Given the description of an element on the screen output the (x, y) to click on. 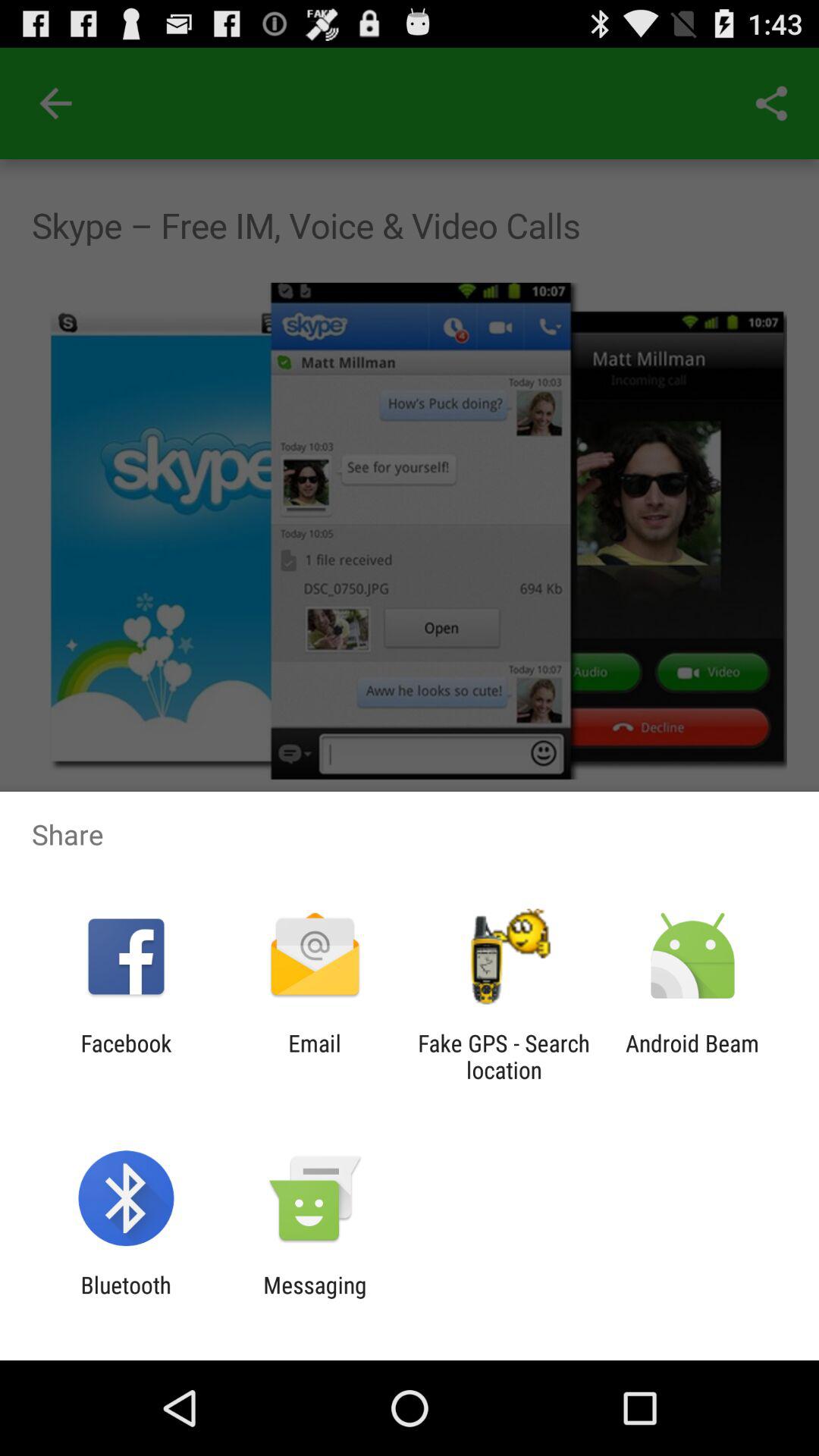
open icon next to fake gps search app (314, 1056)
